Given the description of an element on the screen output the (x, y) to click on. 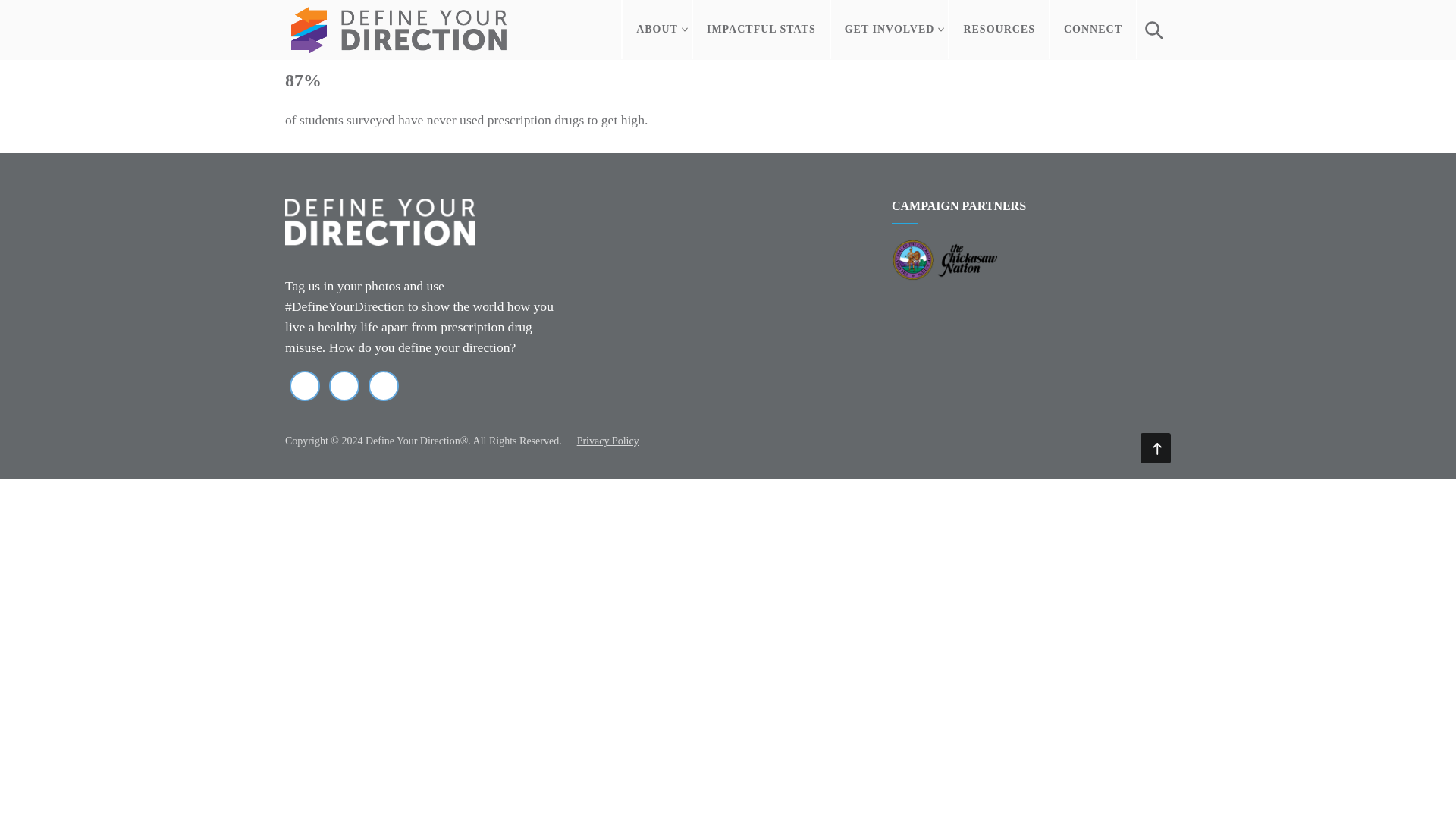
CONNECT (1093, 29)
Impactful Stats (762, 29)
Resources (999, 29)
RESOURCES (999, 29)
Get Involved (890, 29)
Privacy Policy (607, 440)
About (657, 29)
Define Your Direction (398, 29)
Connect (1093, 29)
ABOUT (657, 29)
